Given the description of an element on the screen output the (x, y) to click on. 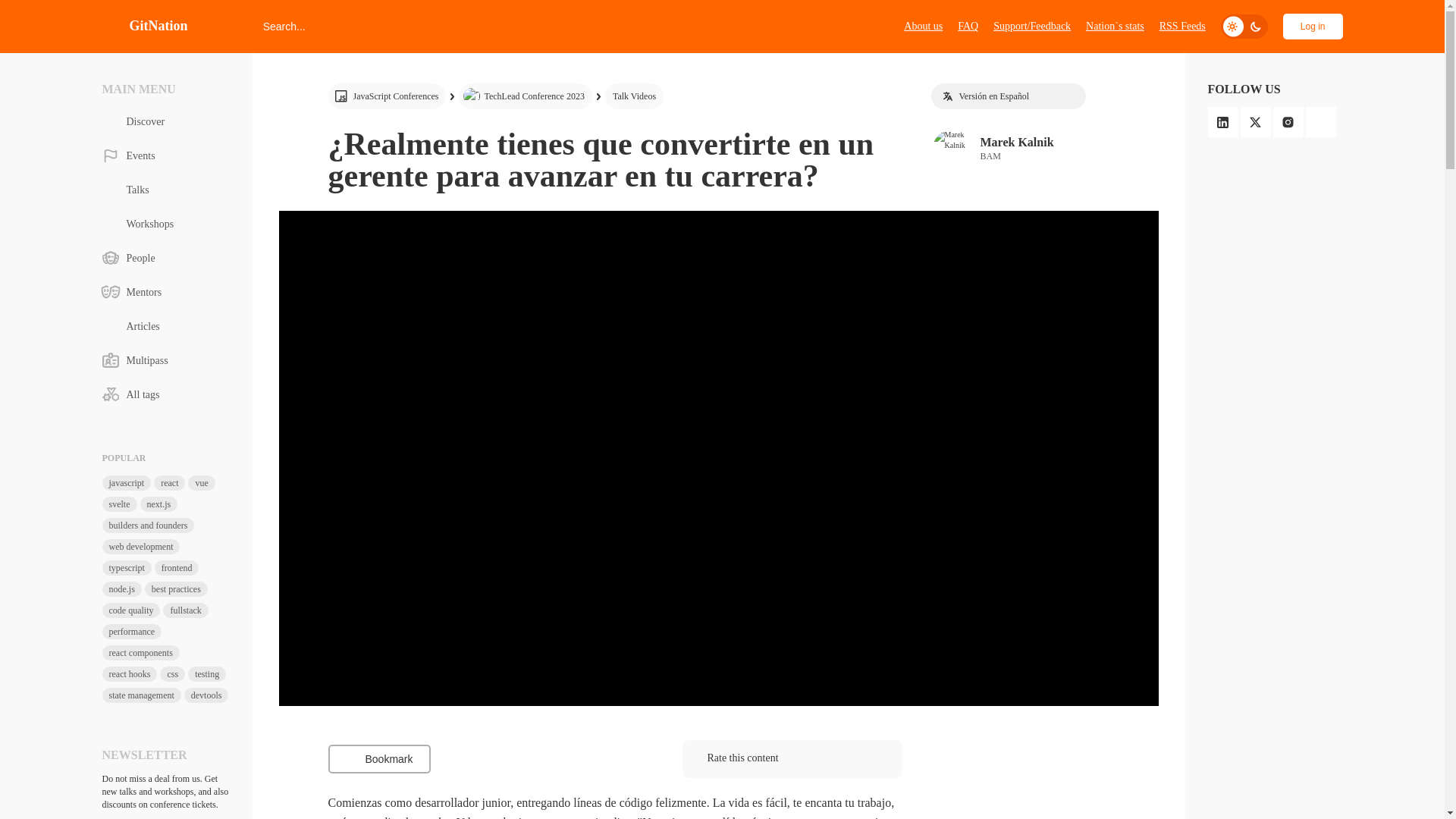
TechLead Conference 2023 (1044, 147)
Log in (524, 95)
FAQ (1312, 26)
About us (968, 25)
JavaScript Conferences (923, 25)
Content video (386, 95)
RSS Feeds (144, 25)
Bookmark (1181, 25)
Talk Videos (378, 758)
Add to bookmarks (634, 95)
